Given the description of an element on the screen output the (x, y) to click on. 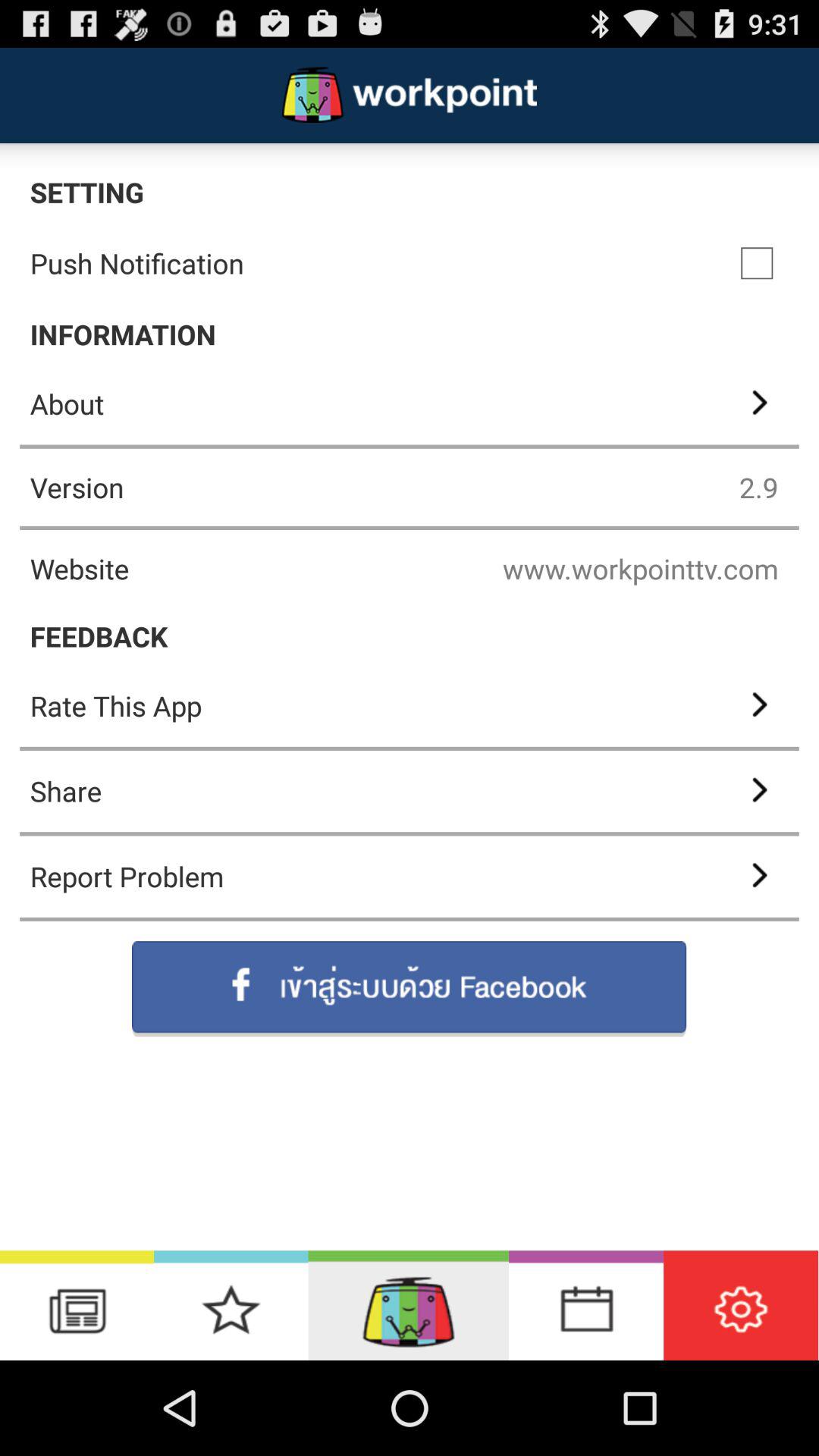
launch icon to the right of the push notification (756, 263)
